Given the description of an element on the screen output the (x, y) to click on. 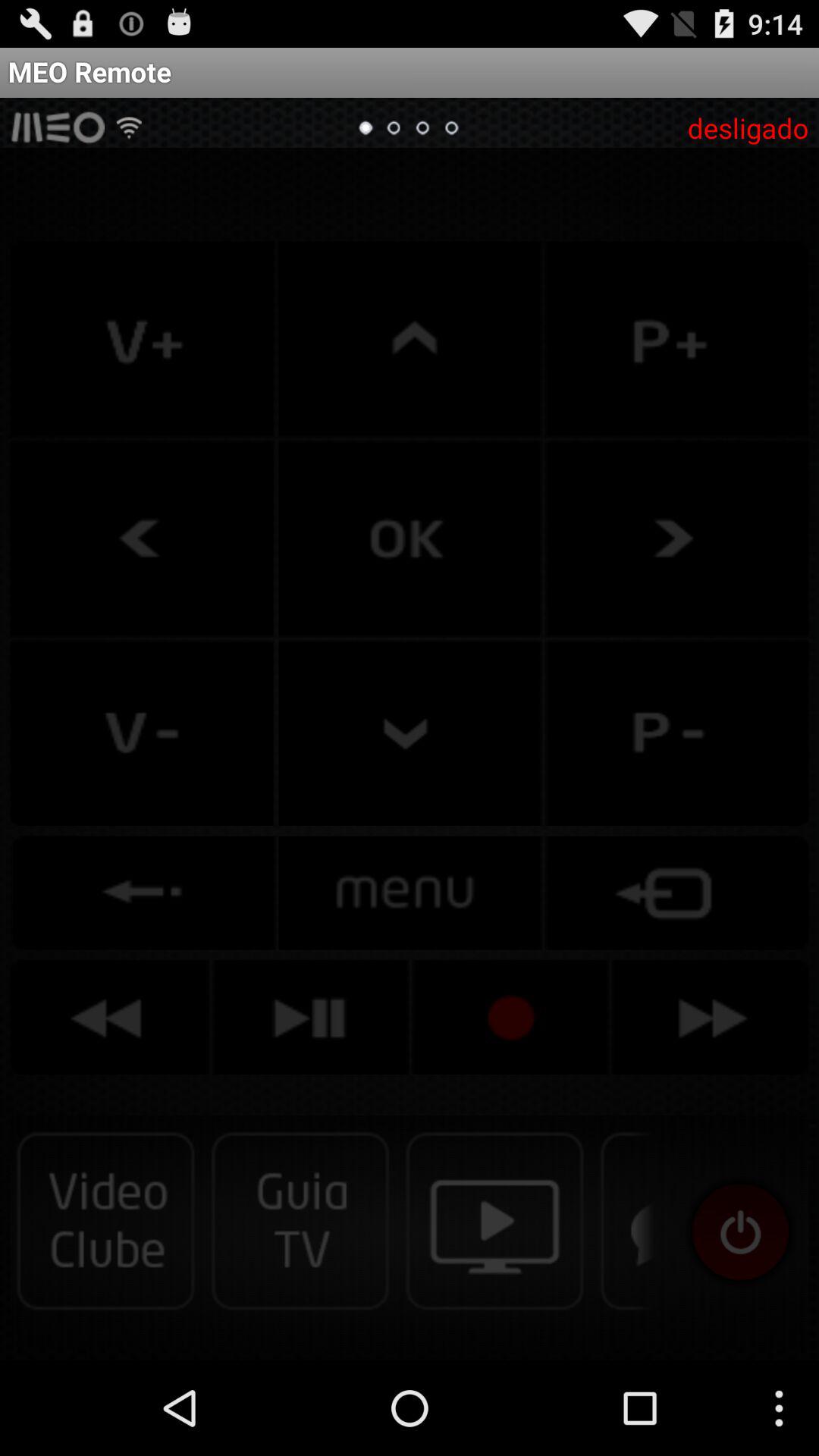
choose icon below the meo remote app (747, 127)
